Given the description of an element on the screen output the (x, y) to click on. 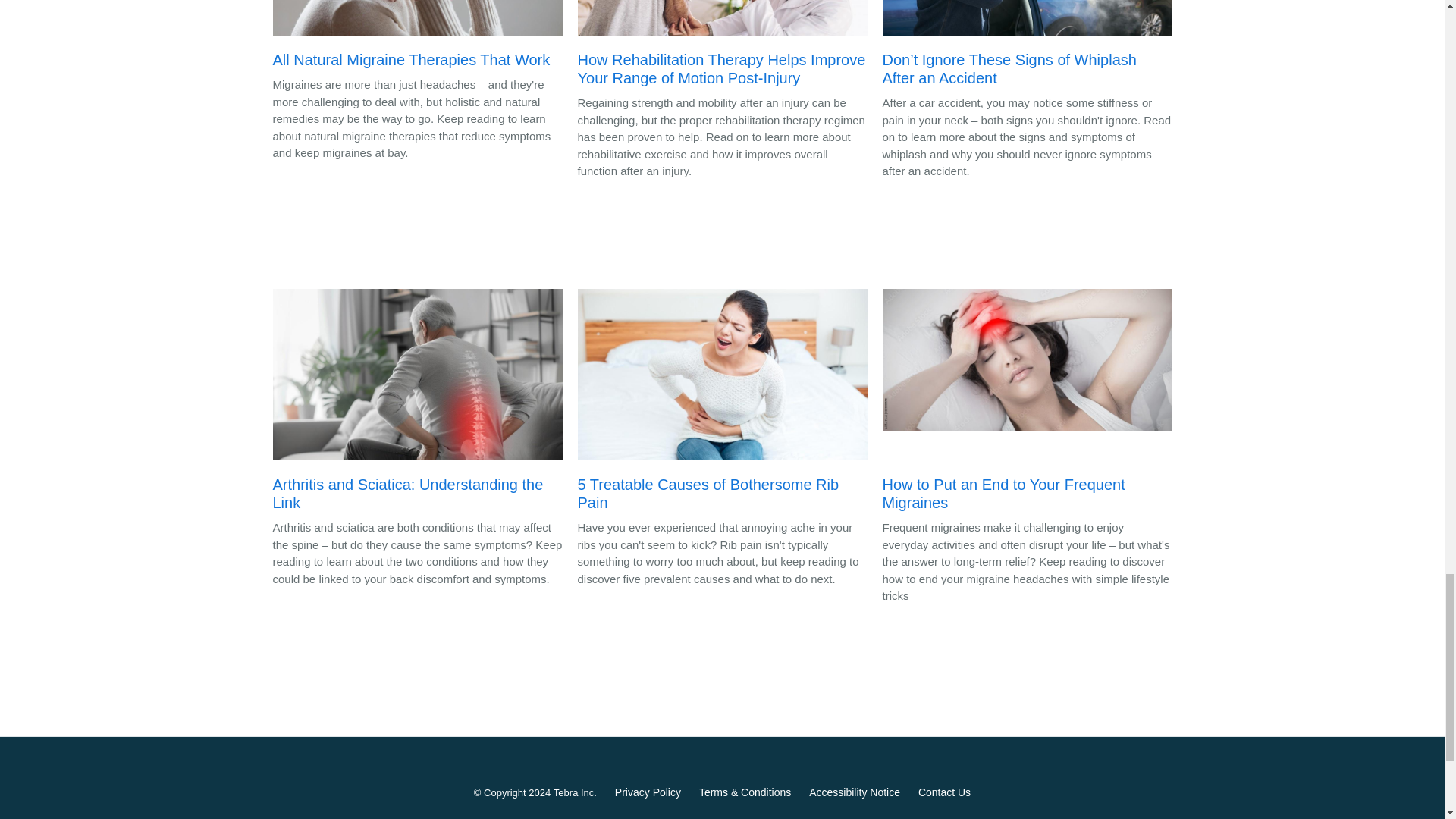
Arthritis and Sciatica: Understanding the Link (417, 404)
All Natural Migraine Therapies That Work (417, 38)
